Given the description of an element on the screen output the (x, y) to click on. 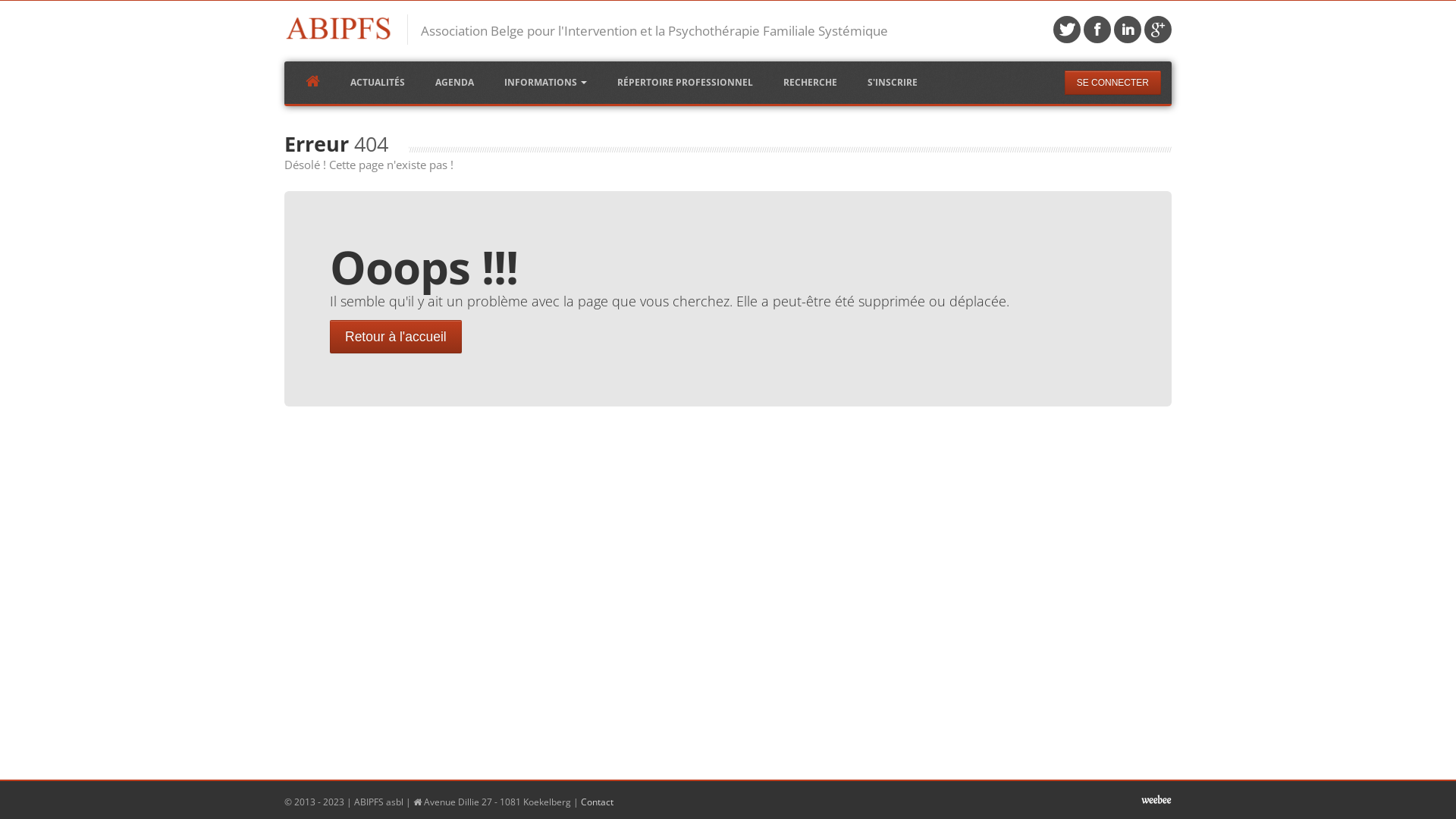
AGENDA Element type: text (454, 82)
INFORMATIONS Element type: text (545, 82)
S'INSCRIRE Element type: text (892, 82)
SE CONNECTER Element type: text (1112, 82)
Contact Element type: text (596, 801)
RECHERCHE Element type: text (810, 82)
Home Element type: hover (339, 27)
